Given the description of an element on the screen output the (x, y) to click on. 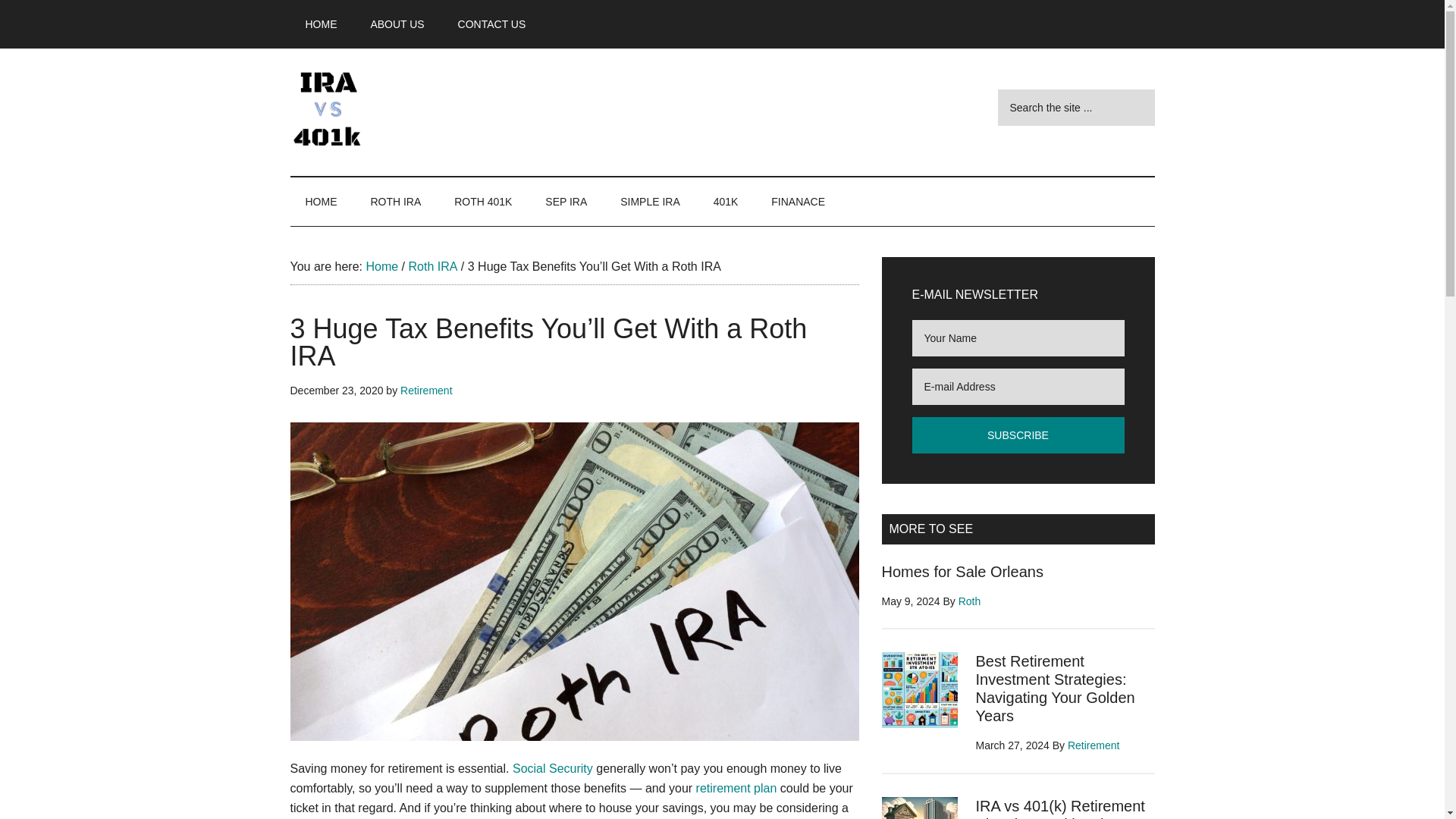
ROTH IRA (395, 201)
SIMPLE IRA (650, 201)
Subscribe (1017, 434)
CONTACT US (491, 24)
Home (381, 266)
Subscribe (1017, 434)
HOME (320, 24)
FINANACE (797, 201)
ABOUT US (397, 24)
HOME (320, 201)
ROTH 401K (483, 201)
